Given the description of an element on the screen output the (x, y) to click on. 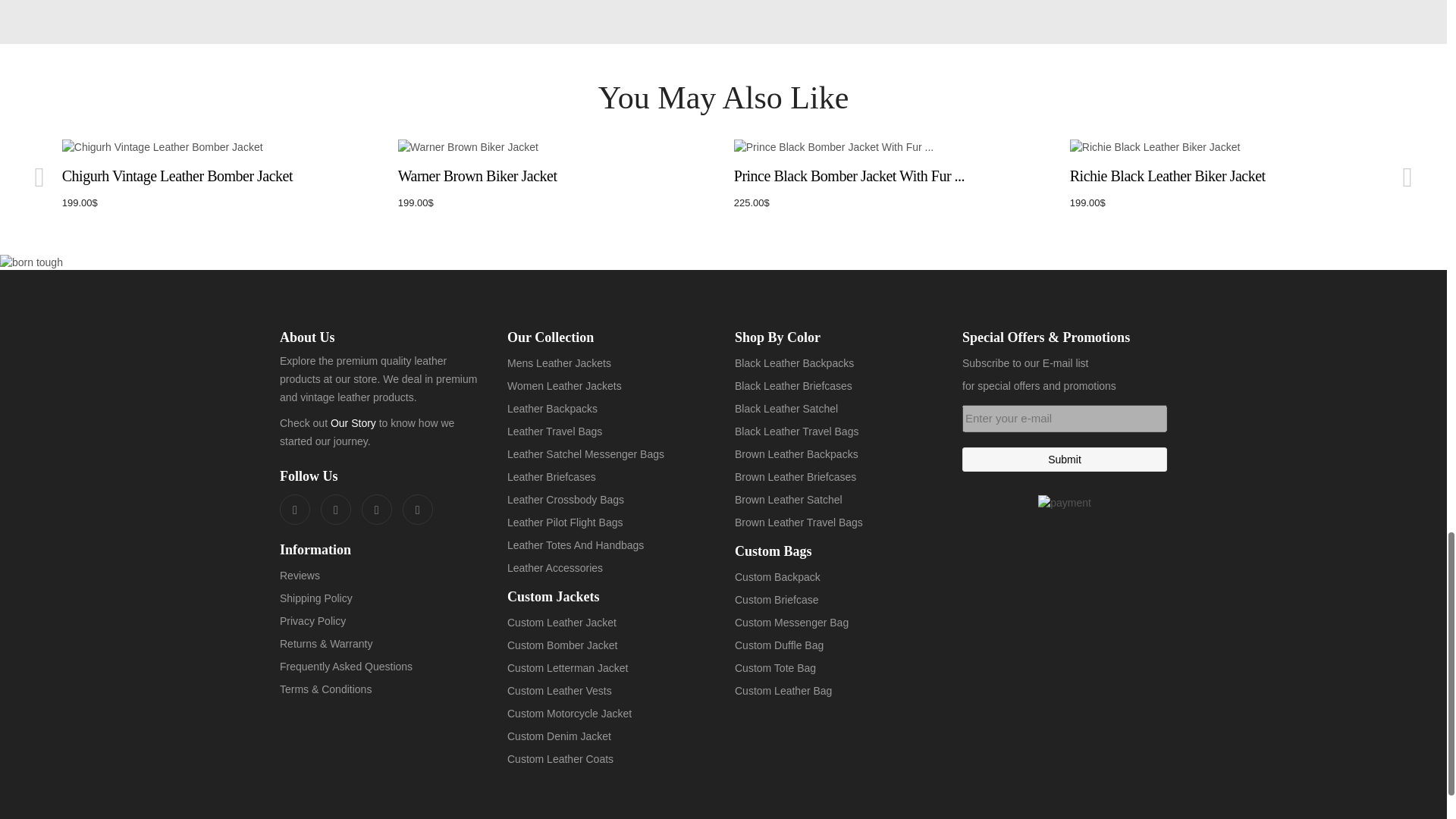
Richie Black Leather Biker Jacket (1226, 146)
Warner Brown Biker Jacket (554, 146)
Chigurh Vintage Leather Bomber Jacket (218, 146)
Prince Black Bomber Jacket With Fur ... (889, 146)
